Given the description of an element on the screen output the (x, y) to click on. 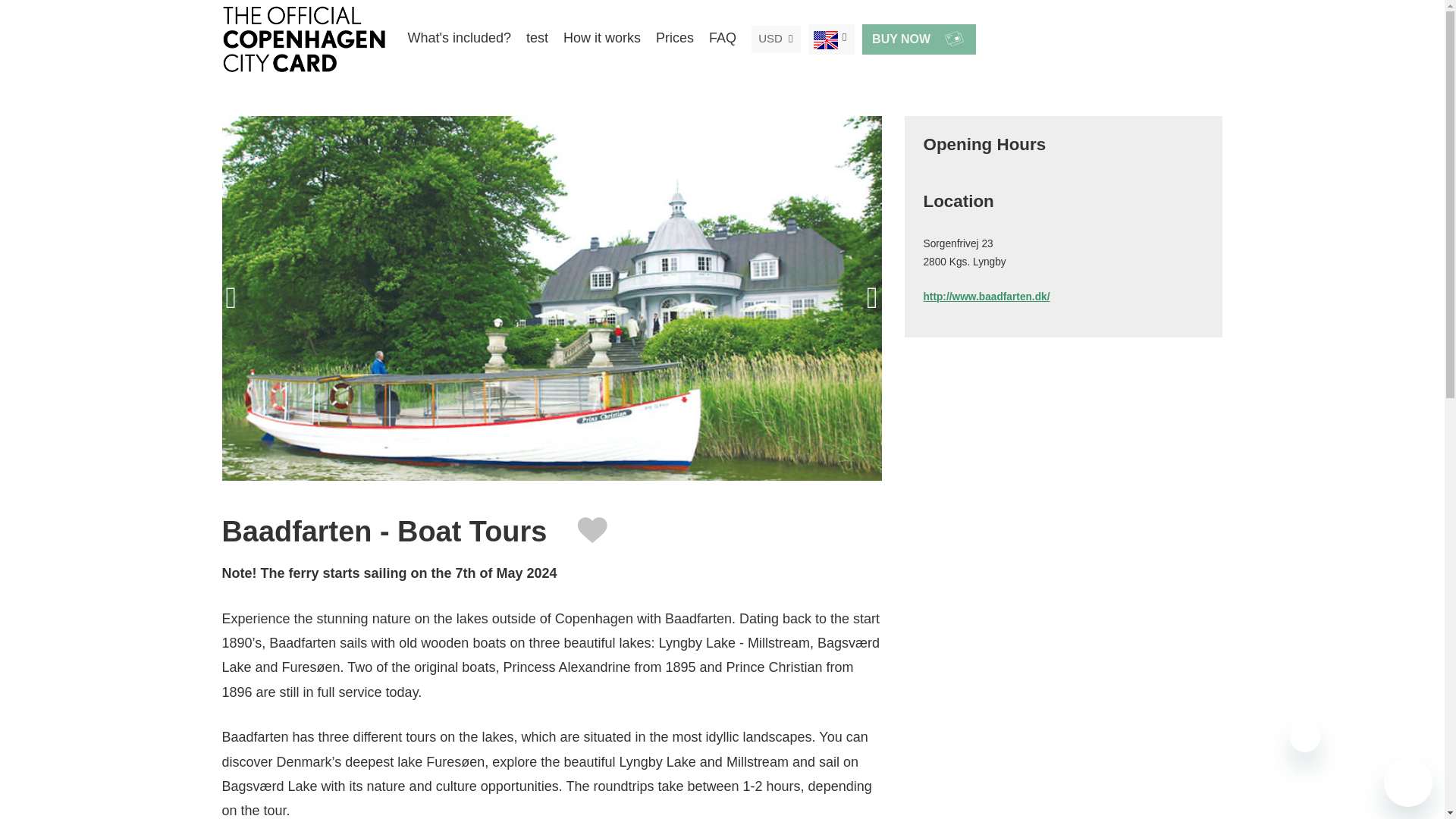
USD (770, 38)
How it works (601, 38)
What's included? (459, 38)
test (536, 38)
Prices (675, 38)
FAQ (722, 38)
BUY NOW (918, 39)
English (825, 38)
